Given the description of an element on the screen output the (x, y) to click on. 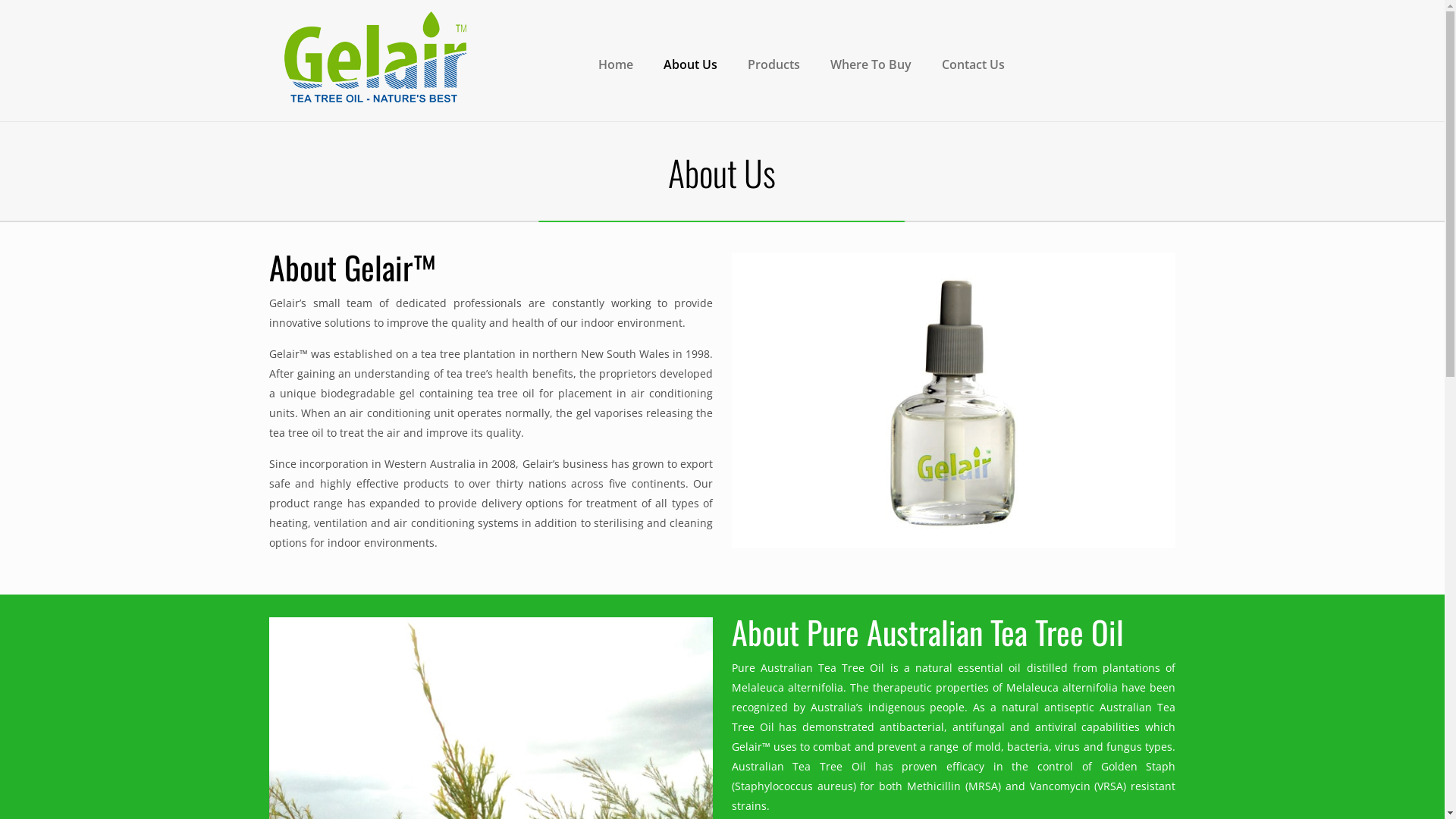
Home Element type: text (615, 64)
About Us Element type: text (690, 64)
Where To Buy Element type: text (870, 64)
Contact Us Element type: text (972, 64)
Products Element type: text (773, 64)
